Given the description of an element on the screen output the (x, y) to click on. 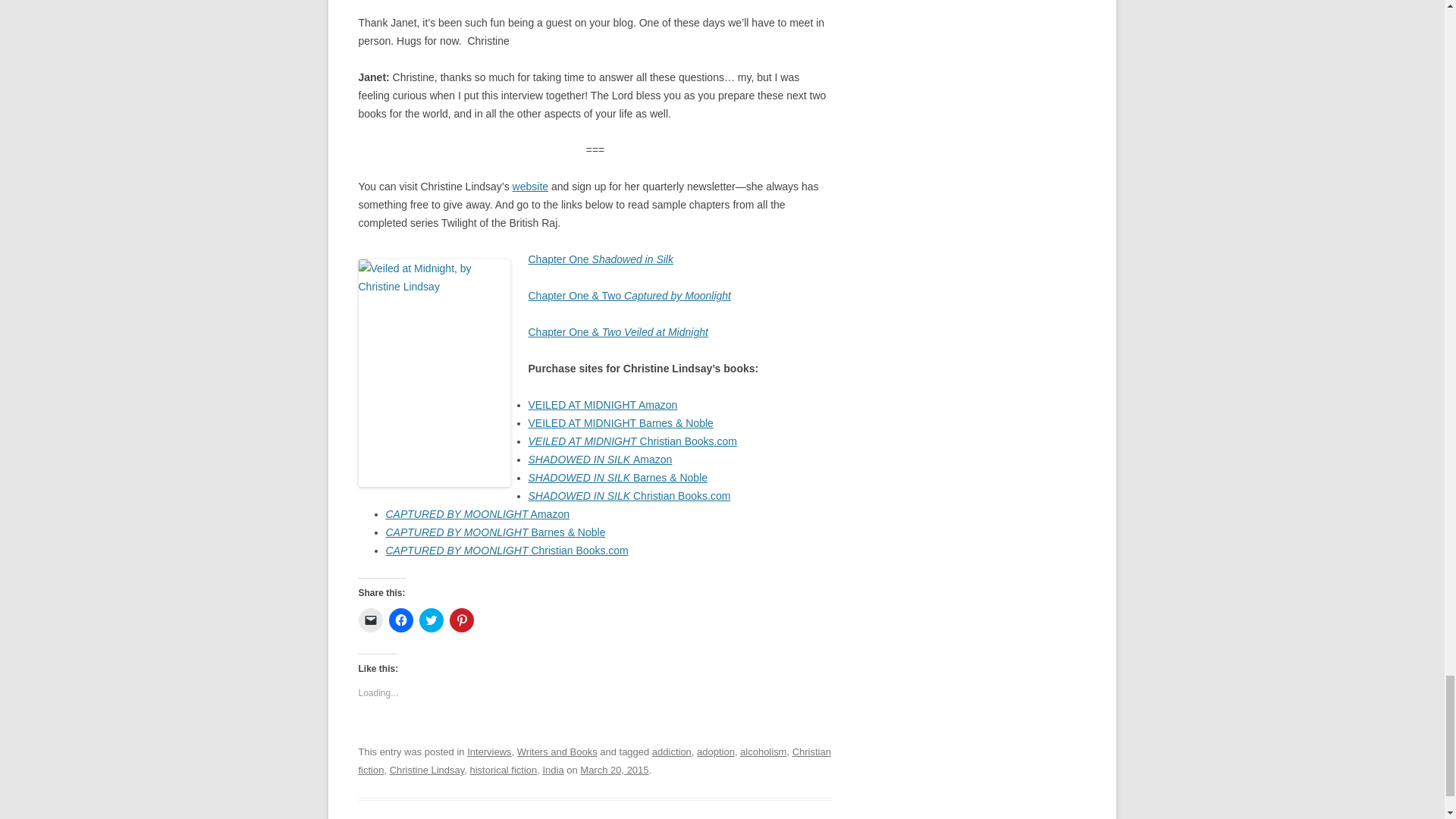
6:00 am (613, 769)
Click to share on Pinterest (460, 620)
Click to share on Facebook (400, 620)
Click to email a link to a friend (369, 620)
Click to share on Twitter (430, 620)
